Given the description of an element on the screen output the (x, y) to click on. 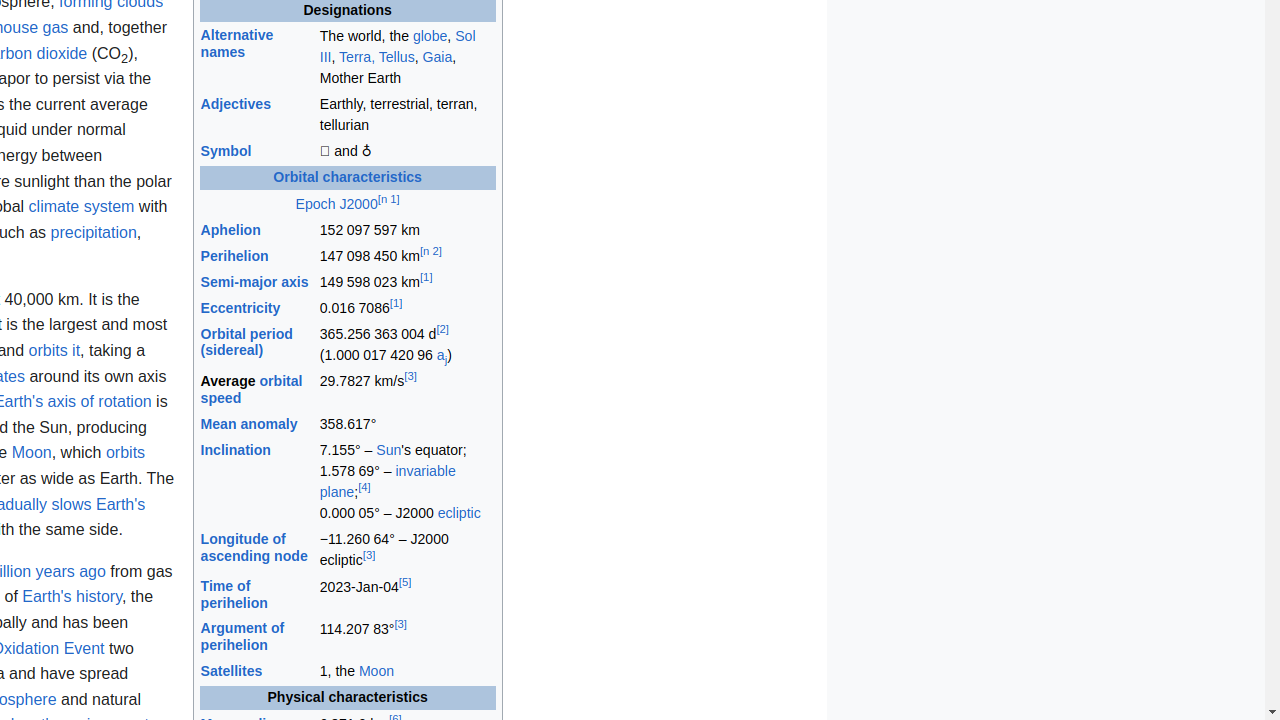
Alternative names Element type: link (237, 44)
orbital speed Element type: link (251, 389)
[5] Element type: link (405, 581)
358.617° Element type: table-cell (407, 423)
Sun Element type: link (389, 449)
